Given the description of an element on the screen output the (x, y) to click on. 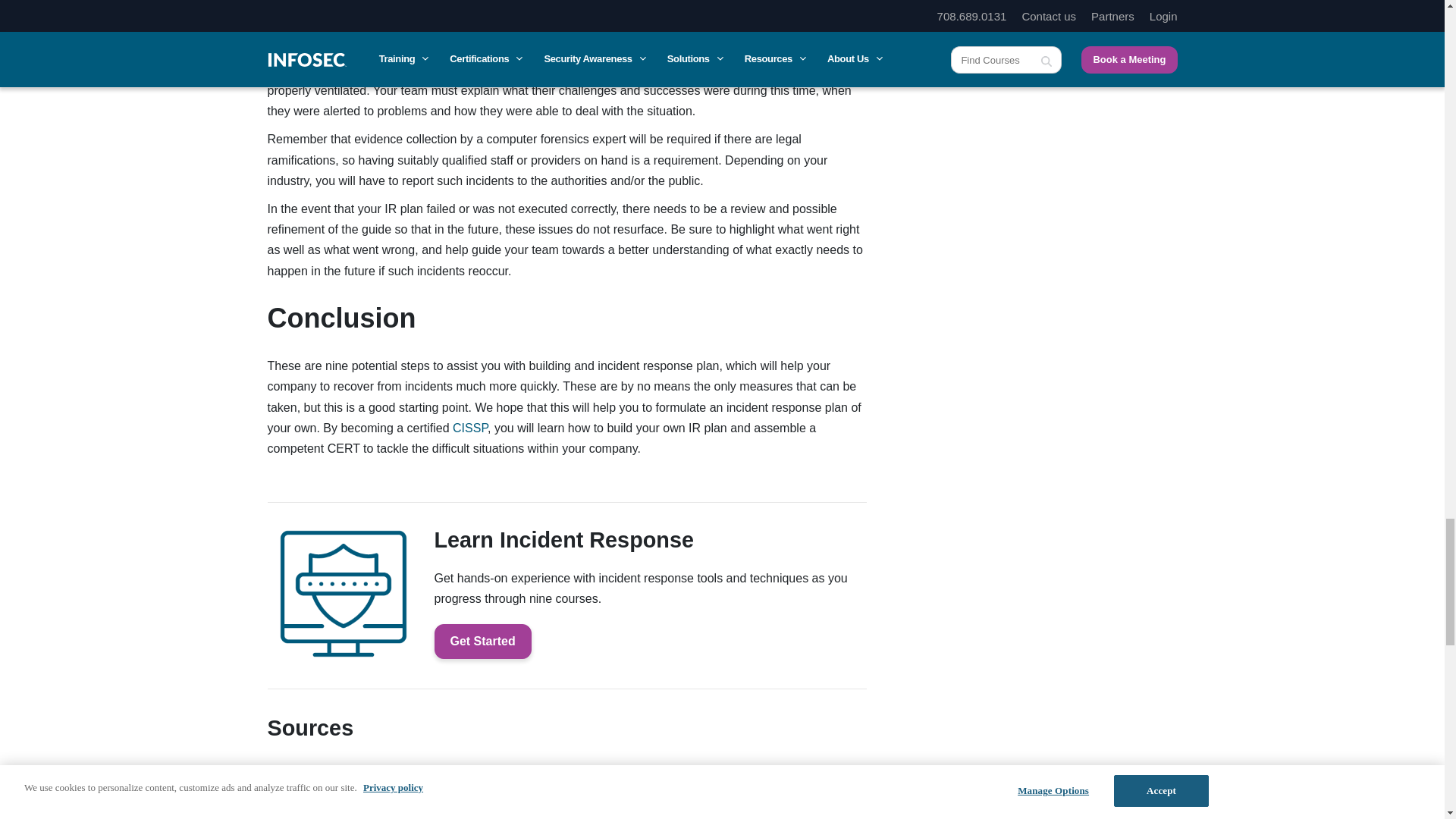
Get Started (482, 641)
